Given the description of an element on the screen output the (x, y) to click on. 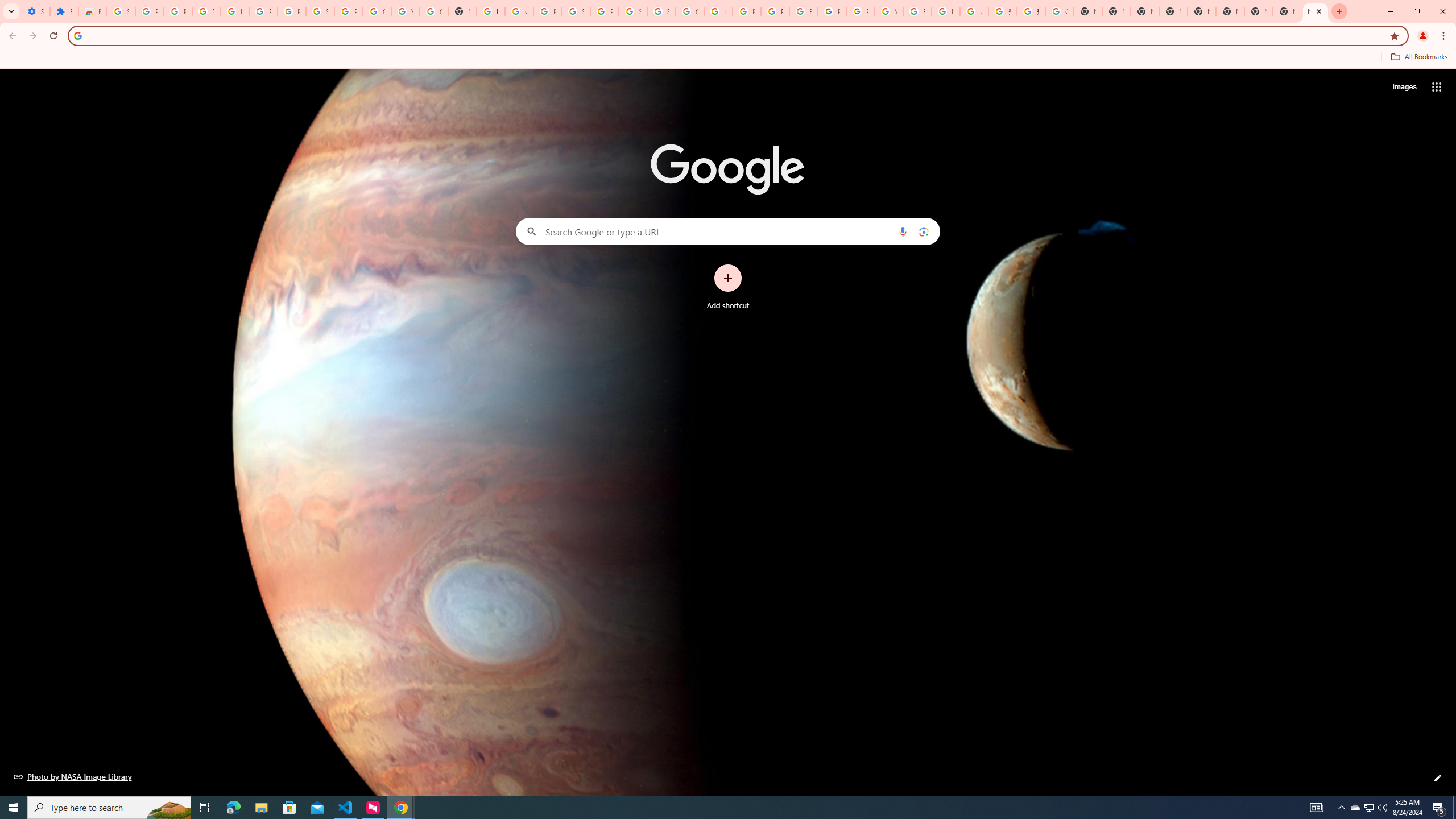
Delete photos & videos - Computer - Google Photos Help (206, 11)
Photo by NASA Image Library (72, 776)
Search tabs (10, 11)
Google Images (1058, 11)
New Tab (1173, 11)
Sign in - Google Accounts (575, 11)
https://scholar.google.com/ (490, 11)
Close (1318, 11)
Privacy Help Center - Policies Help (774, 11)
Privacy Help Center - Policies Help (746, 11)
Bookmarks (728, 58)
